Given the description of an element on the screen output the (x, y) to click on. 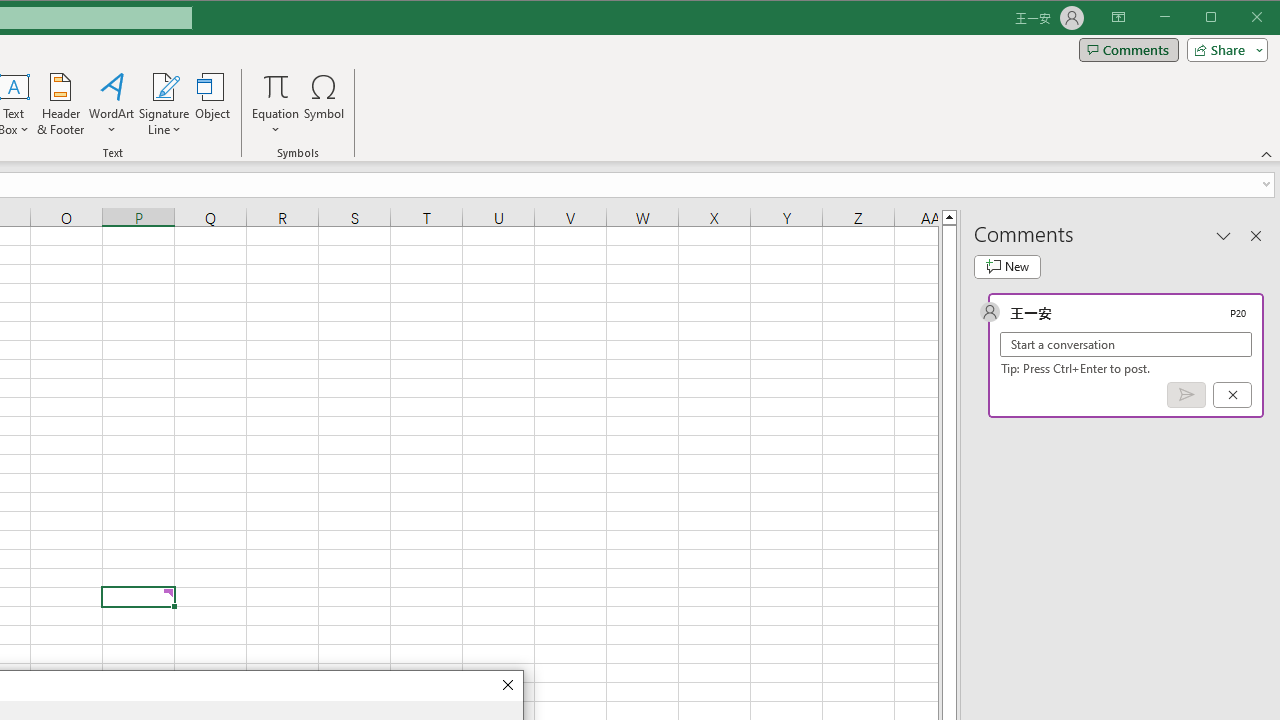
Close pane (1256, 235)
Task Pane Options (1224, 235)
Cancel (1232, 395)
Collapse the Ribbon (1267, 154)
Minimize (1217, 18)
Share (1223, 49)
Header & Footer... (60, 104)
Maximize (1239, 18)
Comments (1128, 49)
Object... (213, 104)
